Given the description of an element on the screen output the (x, y) to click on. 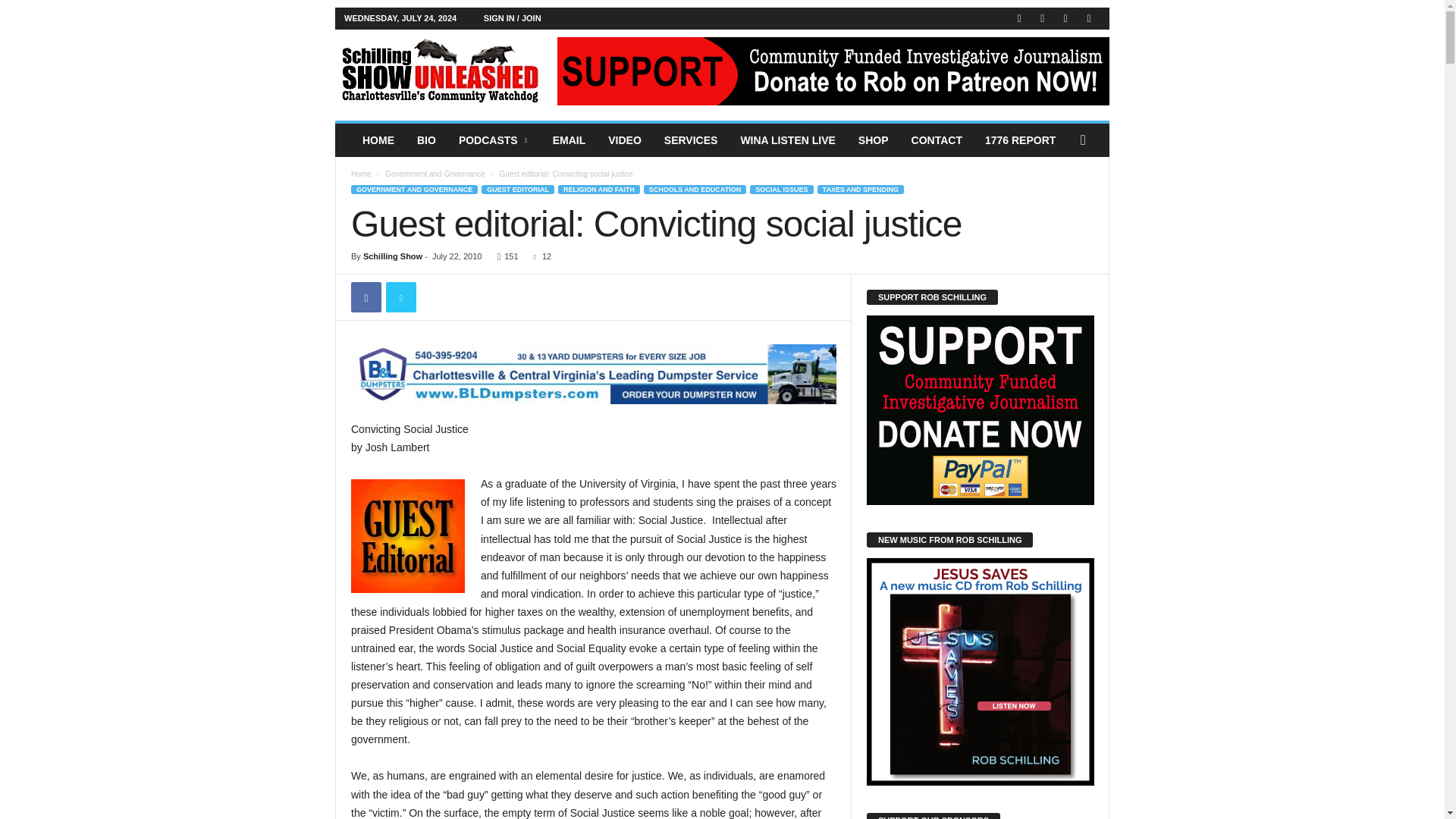
HOME (378, 140)
The Schilling Show Blog (437, 70)
BIO (426, 140)
PODCASTS (493, 140)
SHOP (873, 140)
SERVICES (690, 140)
VIDEO (624, 140)
Community Funded Investigative Journalism (437, 70)
EMAIL (568, 140)
View all posts in Government and Governance (434, 173)
WINA LISTEN LIVE (787, 140)
